Given the description of an element on the screen output the (x, y) to click on. 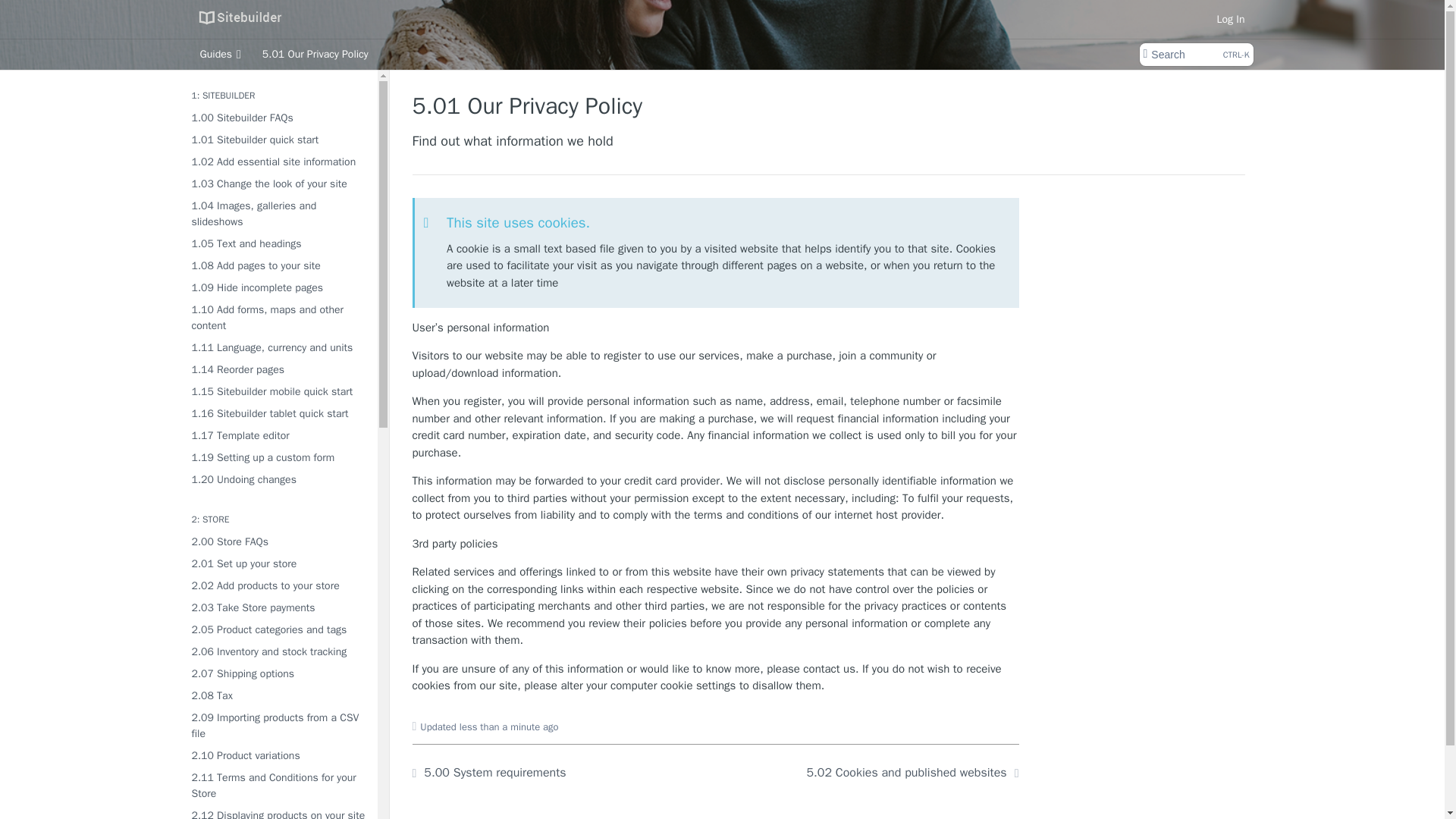
1.11 Language, currency and units (277, 347)
1.00 Sitebuilder FAQs (277, 117)
2.01 Set up your store (277, 563)
2.08 Tax (277, 695)
2.09 Importing products from a CSV file (277, 725)
1.14 Reorder pages (277, 369)
1.10 Add forms, maps and other content (277, 317)
1.02 Add essential site information (277, 161)
1.17 Template editor (277, 435)
2.06 Inventory and stock tracking (277, 651)
